Given the description of an element on the screen output the (x, y) to click on. 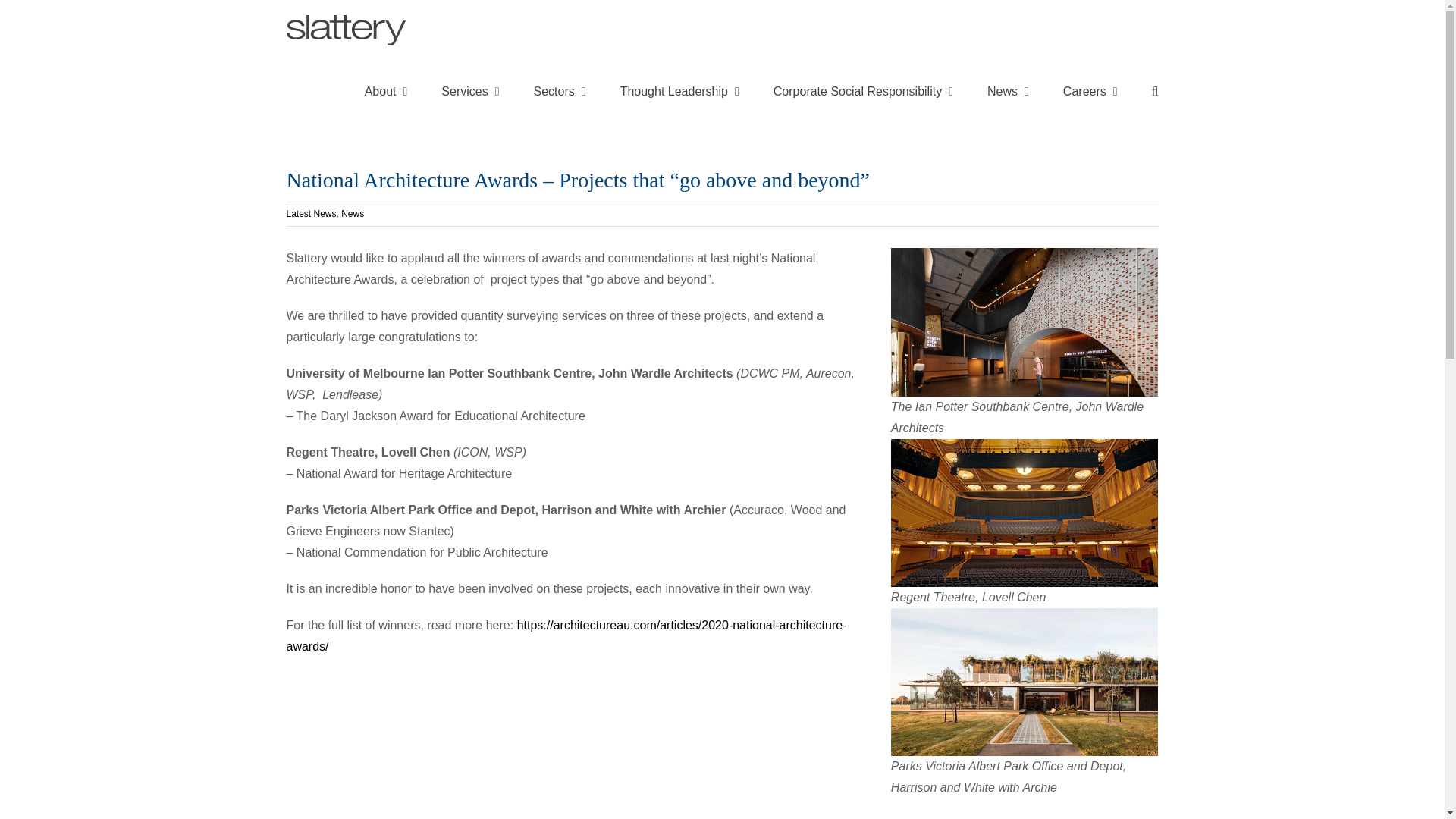
Services (470, 90)
Parks-Victoria (1024, 681)
Ian-Potter (1024, 321)
Reget (1024, 512)
